Given the description of an element on the screen output the (x, y) to click on. 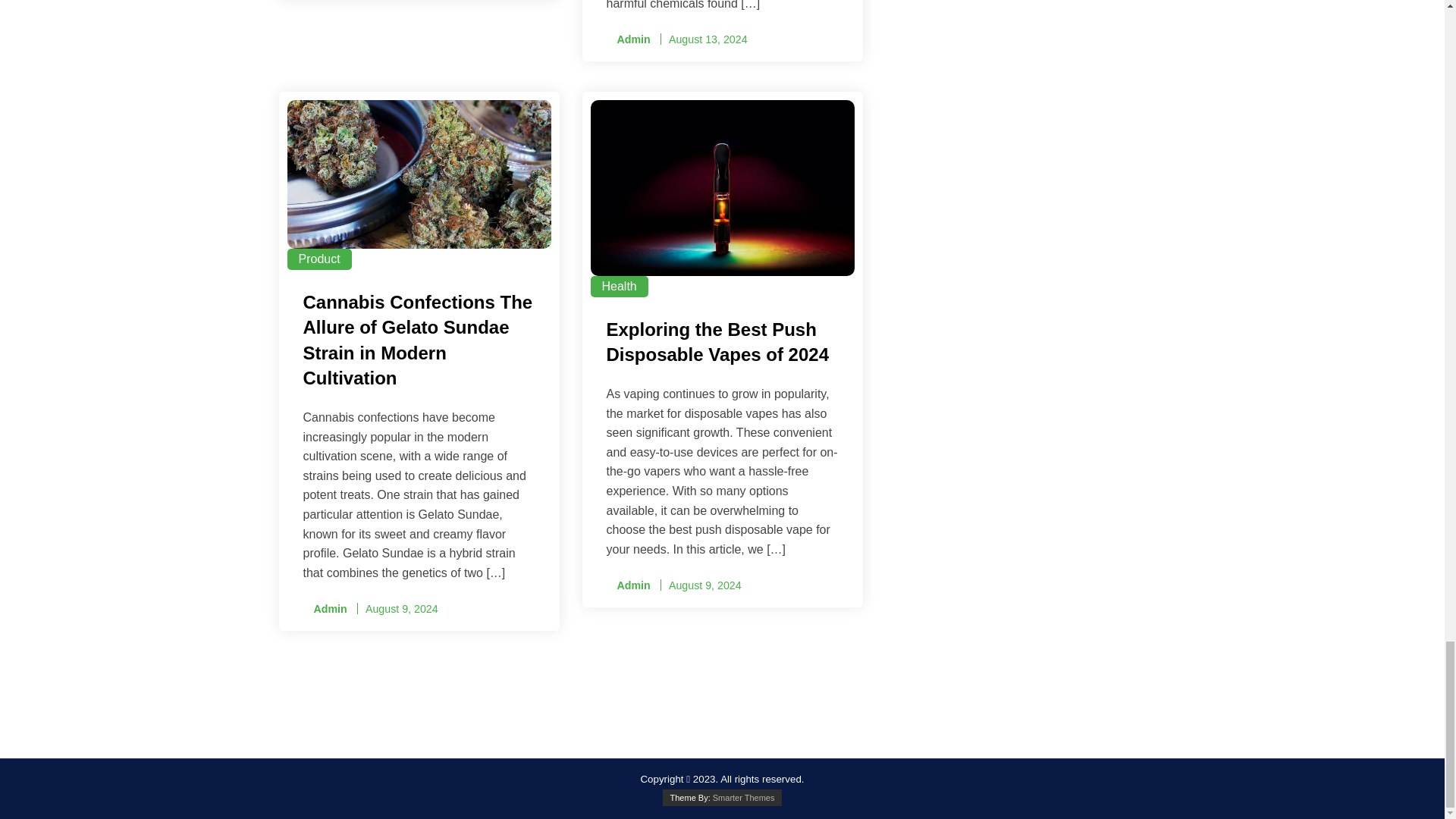
August 13, 2024 (708, 39)
Product (318, 259)
Admin (628, 39)
Exploring the Best Push Disposable Vapes of 2024 (722, 344)
Admin (628, 585)
Admin (324, 609)
August 9, 2024 (704, 585)
Health (618, 286)
August 9, 2024 (401, 608)
